Given the description of an element on the screen output the (x, y) to click on. 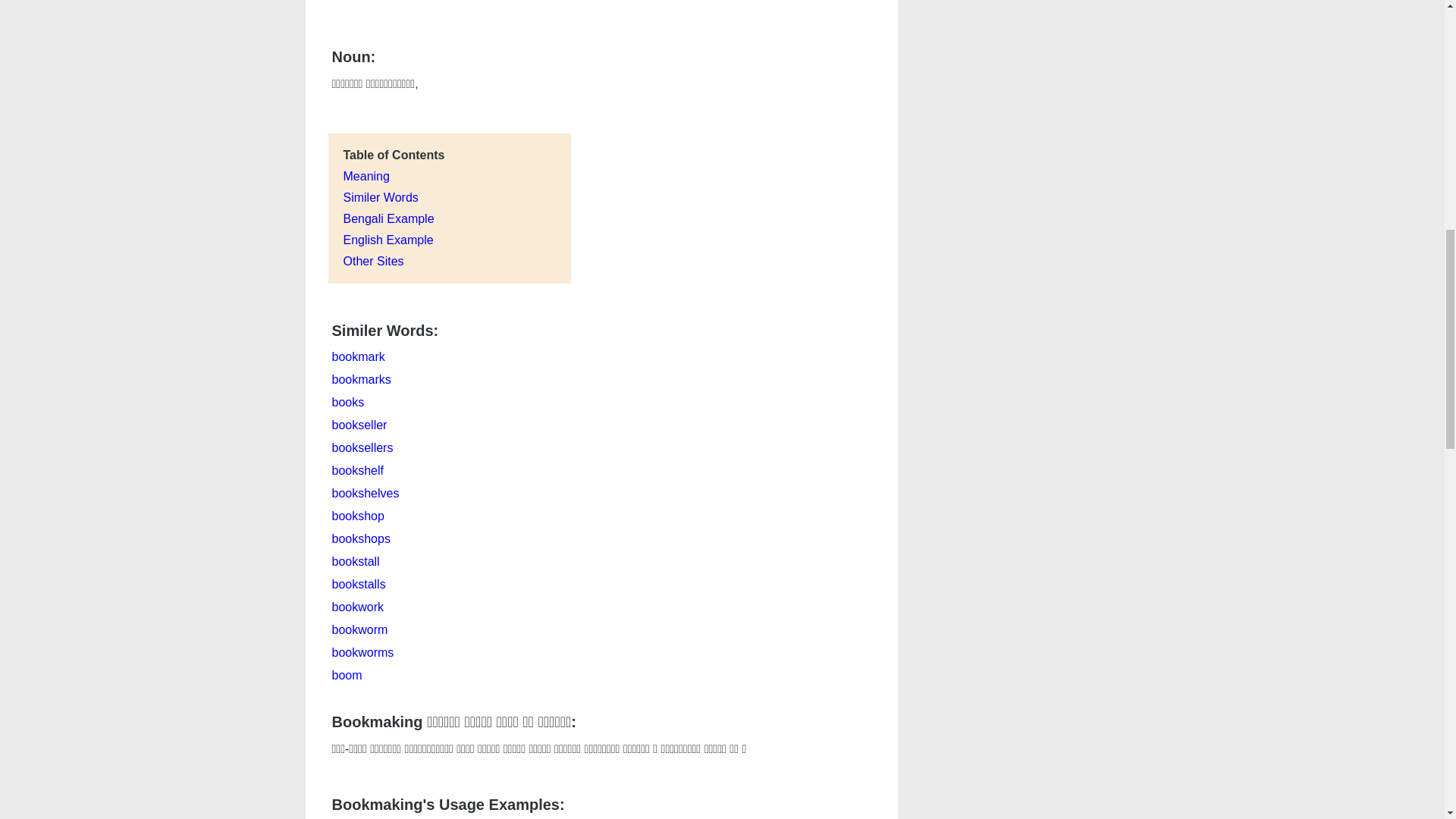
bookseller (359, 424)
bookworms (362, 652)
bookshop (357, 515)
bangla-example (387, 218)
bookshelf (357, 470)
Meaning (365, 175)
Bengali Example (387, 218)
bookmark (358, 356)
bookshelves (364, 492)
Other Sites (372, 260)
other-site (372, 260)
English Example (387, 239)
Meaning (365, 175)
books (348, 401)
booksellers (362, 447)
